Given the description of an element on the screen output the (x, y) to click on. 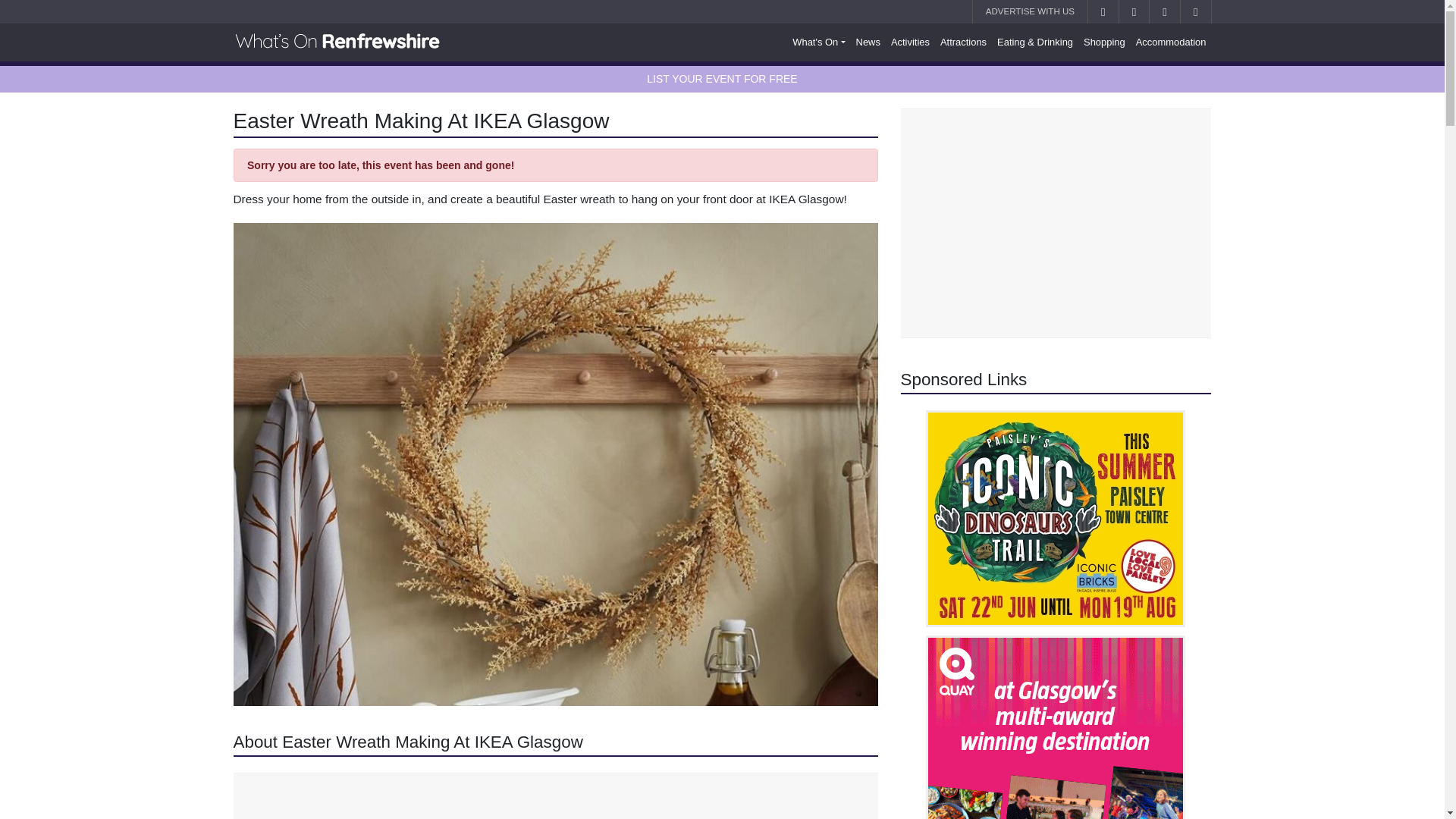
News (867, 41)
Accommodation (1171, 41)
Activities in Renfrewshire (909, 41)
ADVERTISE WITH US (1029, 11)
Shopping (1104, 41)
Attractions in Renfrewshire (962, 41)
Renfrewshire News (867, 41)
LIST YOUR EVENT FOR FREE (721, 78)
What's On (818, 41)
What's On Renfrewshire (337, 42)
Events in Renfrewshire (818, 41)
Attractions (962, 41)
Advertise on What's On Renfrewshire (1029, 11)
Activities (909, 41)
